Given the description of an element on the screen output the (x, y) to click on. 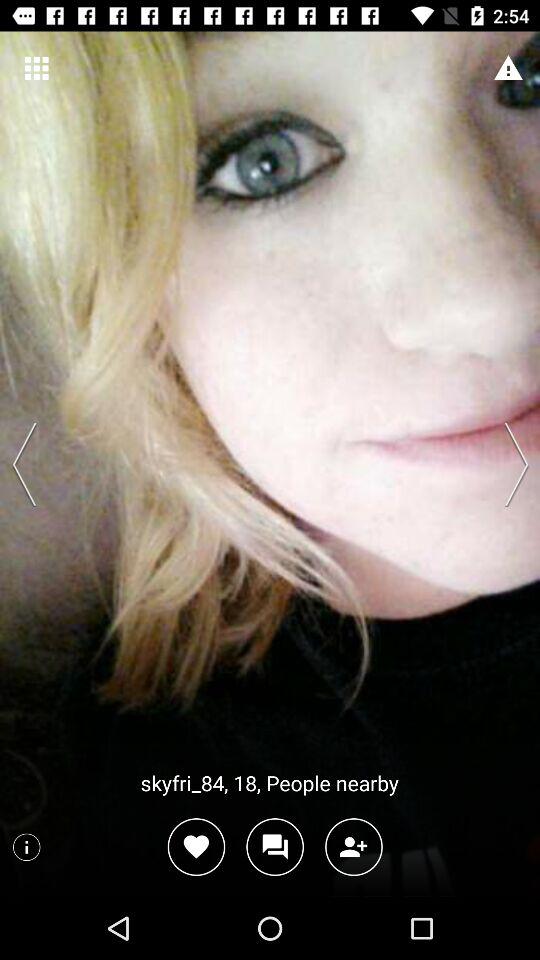
change the person showed show the next person (510, 464)
